Given the description of an element on the screen output the (x, y) to click on. 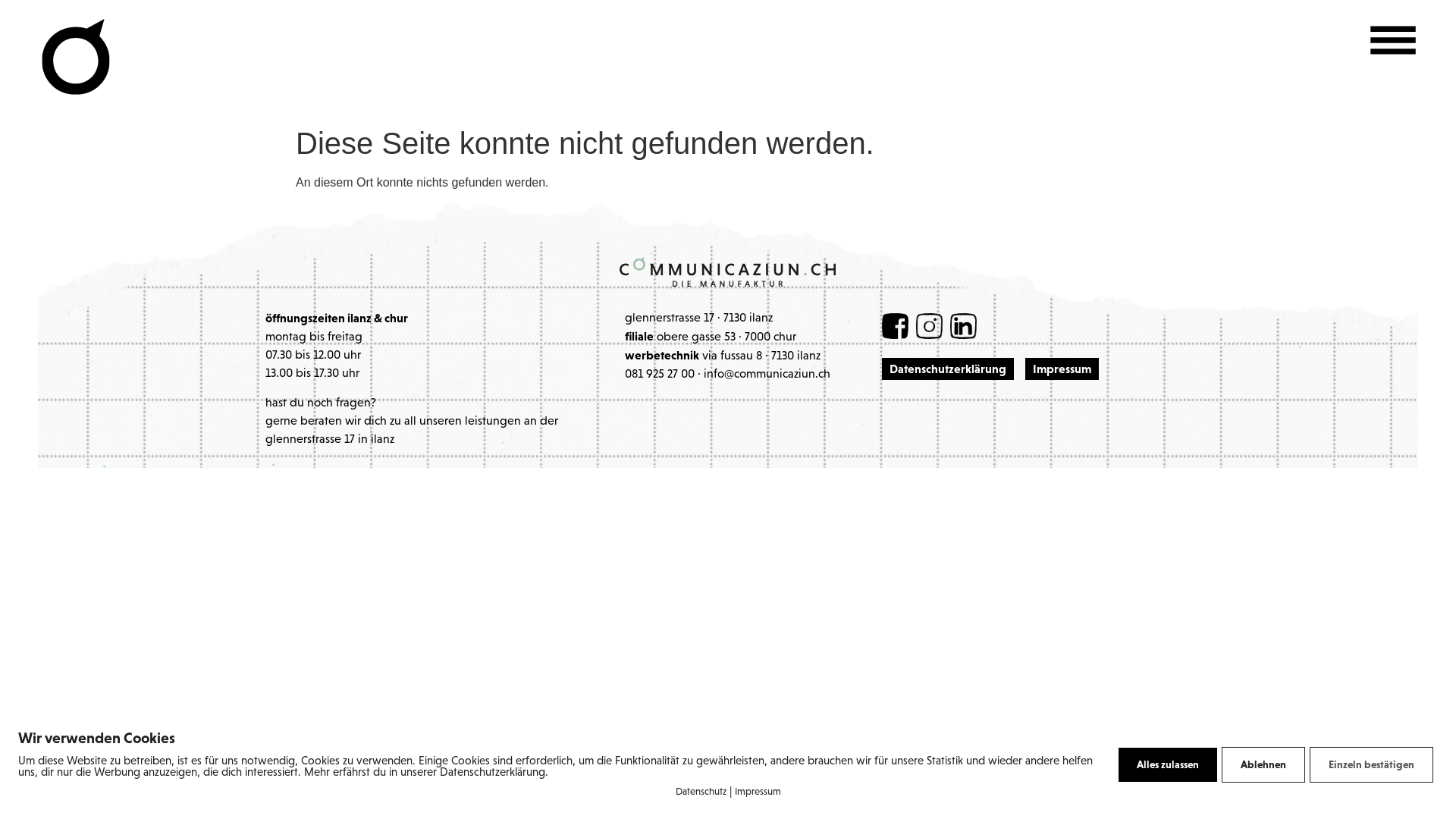
Communicaziun Icon Li 1 Element type: hover (963, 325)
Datenschutz Element type: text (699, 792)
Ablehnen Element type: text (1263, 764)
Alles zulassen Element type: text (1167, 764)
Impressum Element type: text (757, 792)
Impressum Element type: text (1061, 368)
081 925 27 00 Element type: text (659, 374)
Communicaziun Icon Fb 1 Element type: hover (894, 325)
Communicaziun Icon Ig 1 Element type: hover (929, 325)
info@communicaziun.ch Element type: text (766, 374)
